Given the description of an element on the screen output the (x, y) to click on. 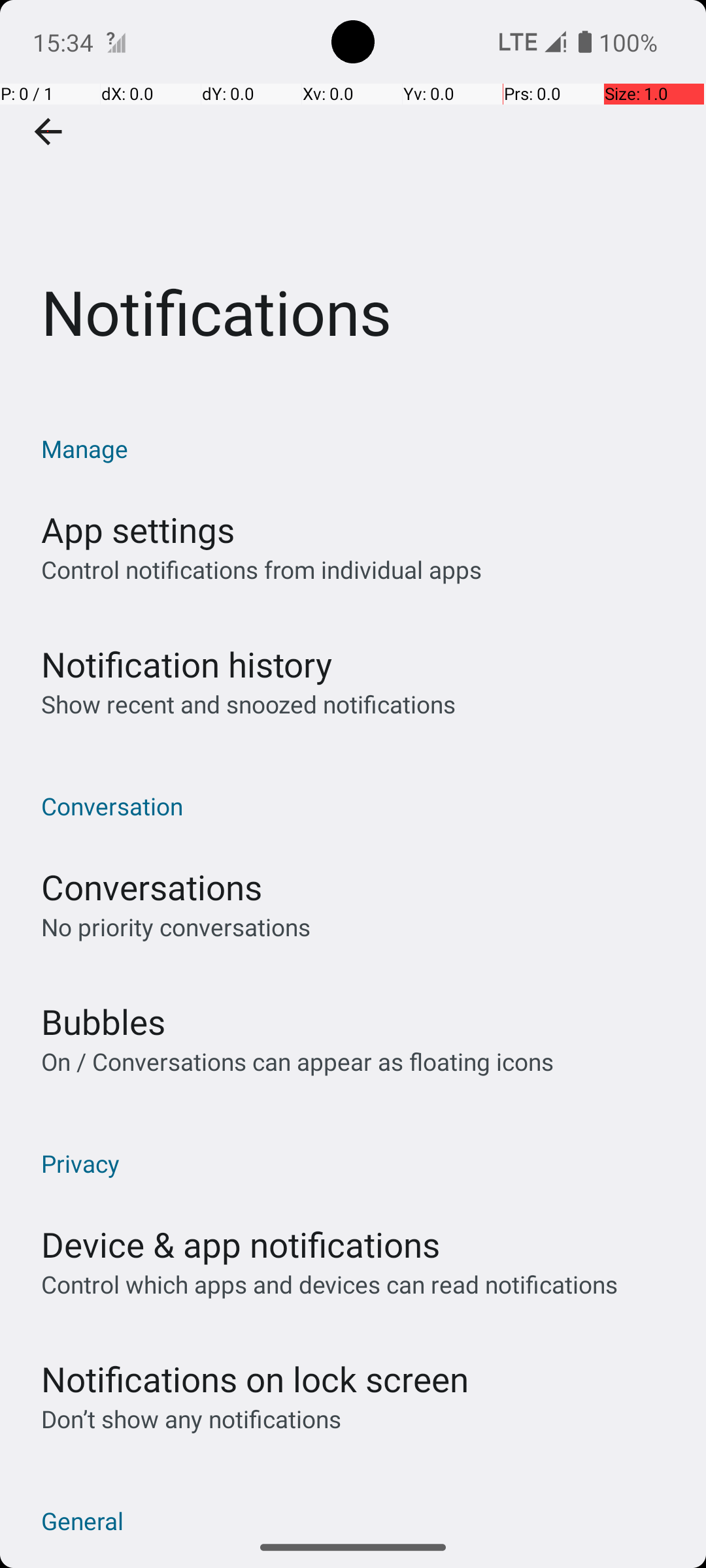
Don’t show any notifications Element type: android.widget.TextView (191, 1418)
